Given the description of an element on the screen output the (x, y) to click on. 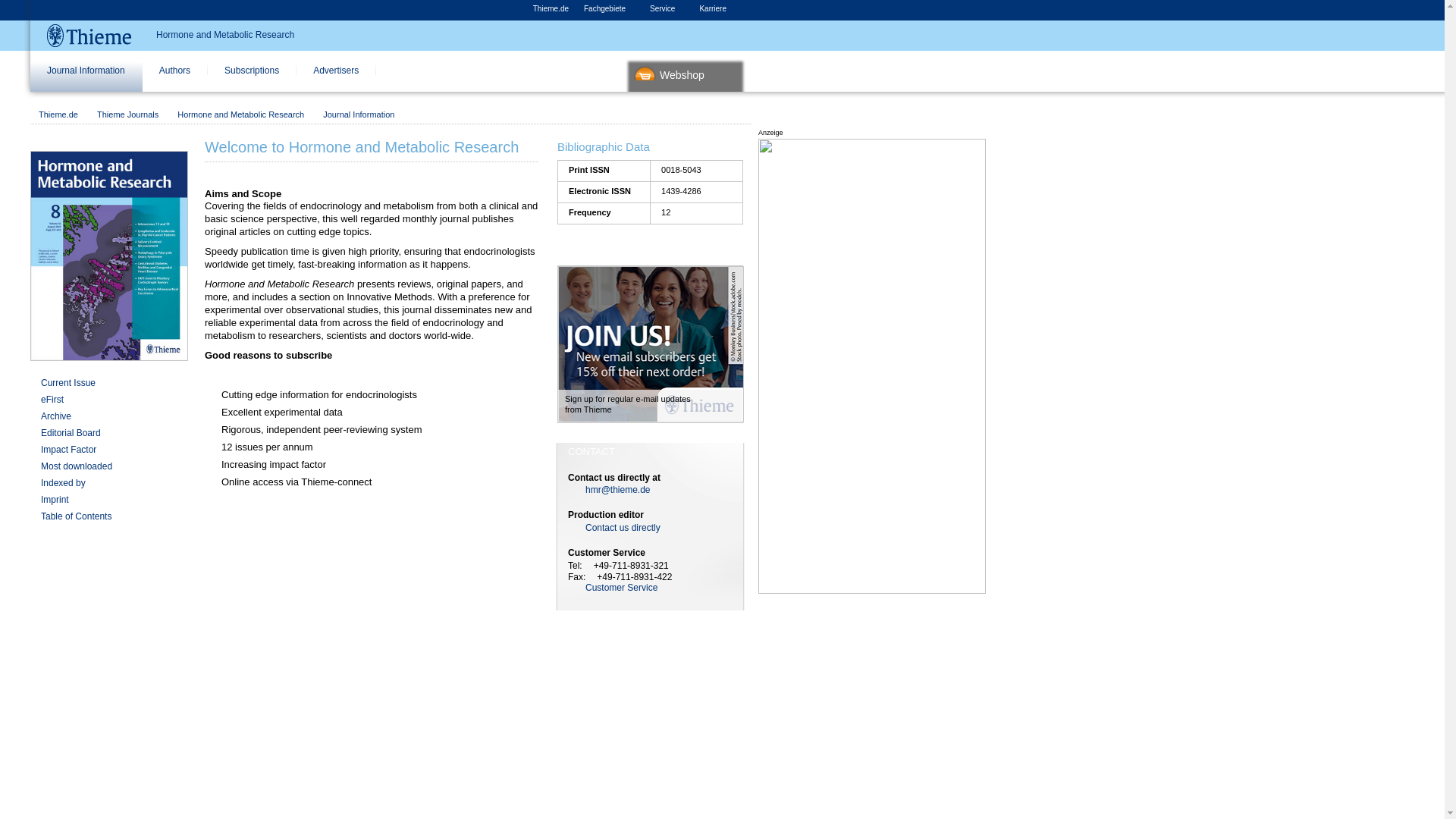
Thieme.de (550, 8)
Karriere (716, 8)
Fachgebiete (608, 8)
Service (666, 8)
Karriere (716, 8)
Service (666, 8)
Thieme.de (58, 114)
Advertisers (336, 76)
Journal Information (86, 76)
Thieme.de (550, 8)
Thieme (89, 35)
Fachgebiete (608, 8)
Webshop (687, 76)
Authors (175, 76)
Subscriptions (252, 76)
